Given the description of an element on the screen output the (x, y) to click on. 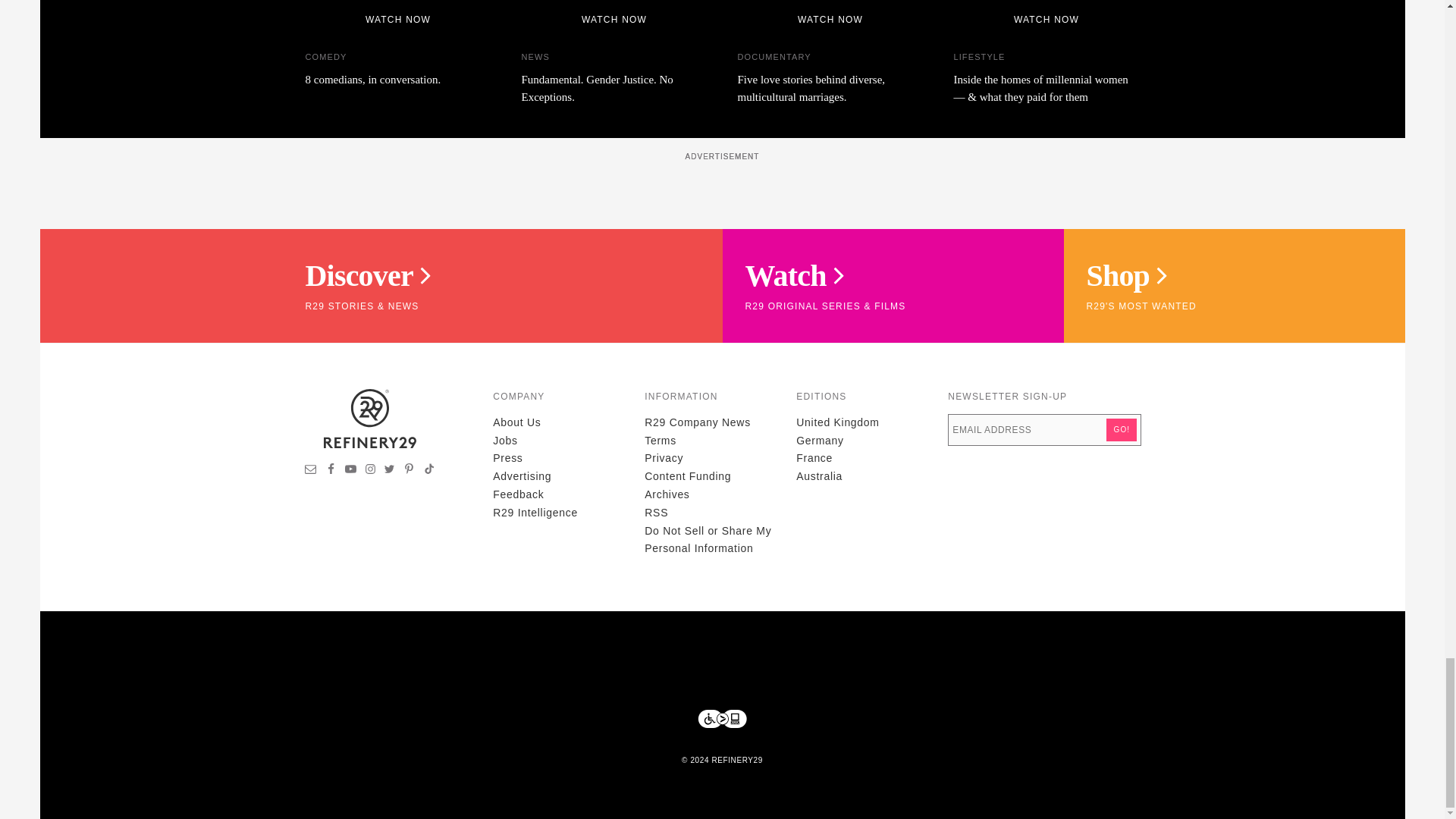
Sign up for newsletters (310, 470)
